Given the description of an element on the screen output the (x, y) to click on. 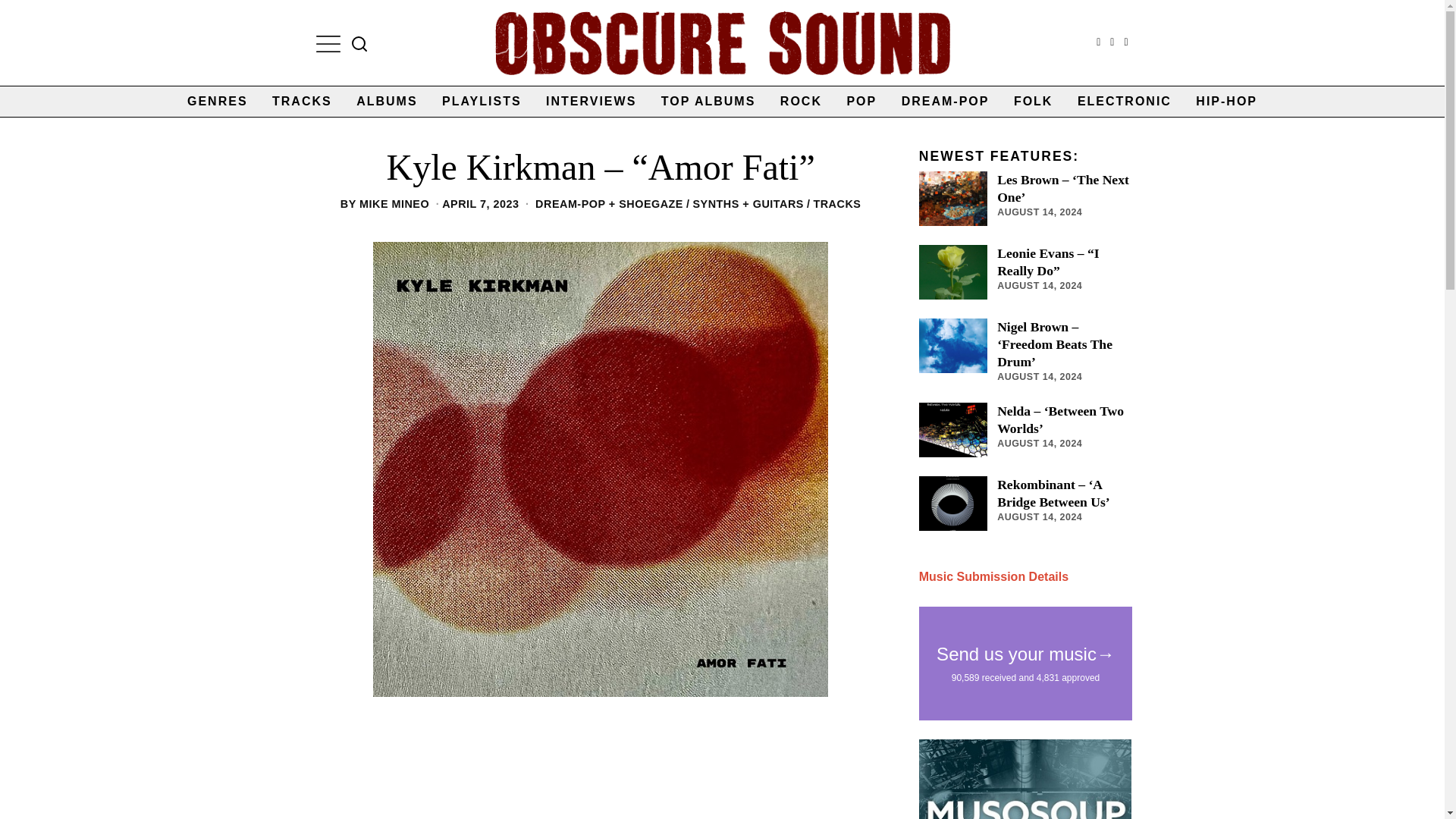
GENRES (217, 101)
DREAM-POP (945, 101)
MIKE MINEO (394, 203)
HIP-HOP (1226, 101)
PLAYLISTS (481, 101)
ALBUMS (387, 101)
POP (860, 101)
Send music (993, 576)
ROCK (801, 101)
TRACKS (836, 203)
